Given the description of an element on the screen output the (x, y) to click on. 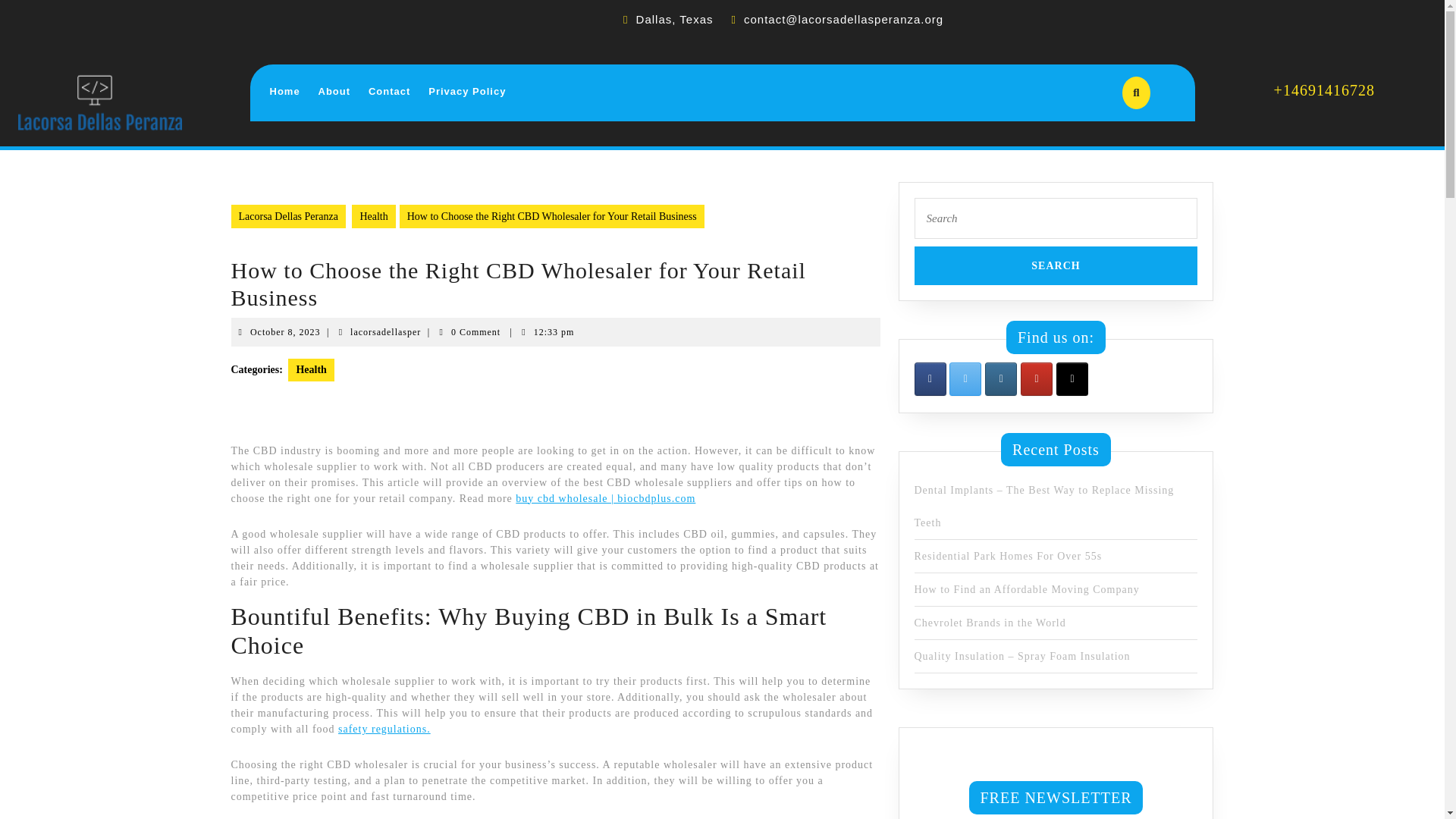
Contact (389, 91)
Privacy Policy (466, 91)
Lacorsa Dellas Peranza on Instagram (385, 330)
Health (285, 330)
Lacorsa Dellas Peranza on Facebook (1000, 378)
Home (310, 368)
Lacorsa Dellas Peranza on Tiktok (930, 378)
Health (284, 91)
